Given the description of an element on the screen output the (x, y) to click on. 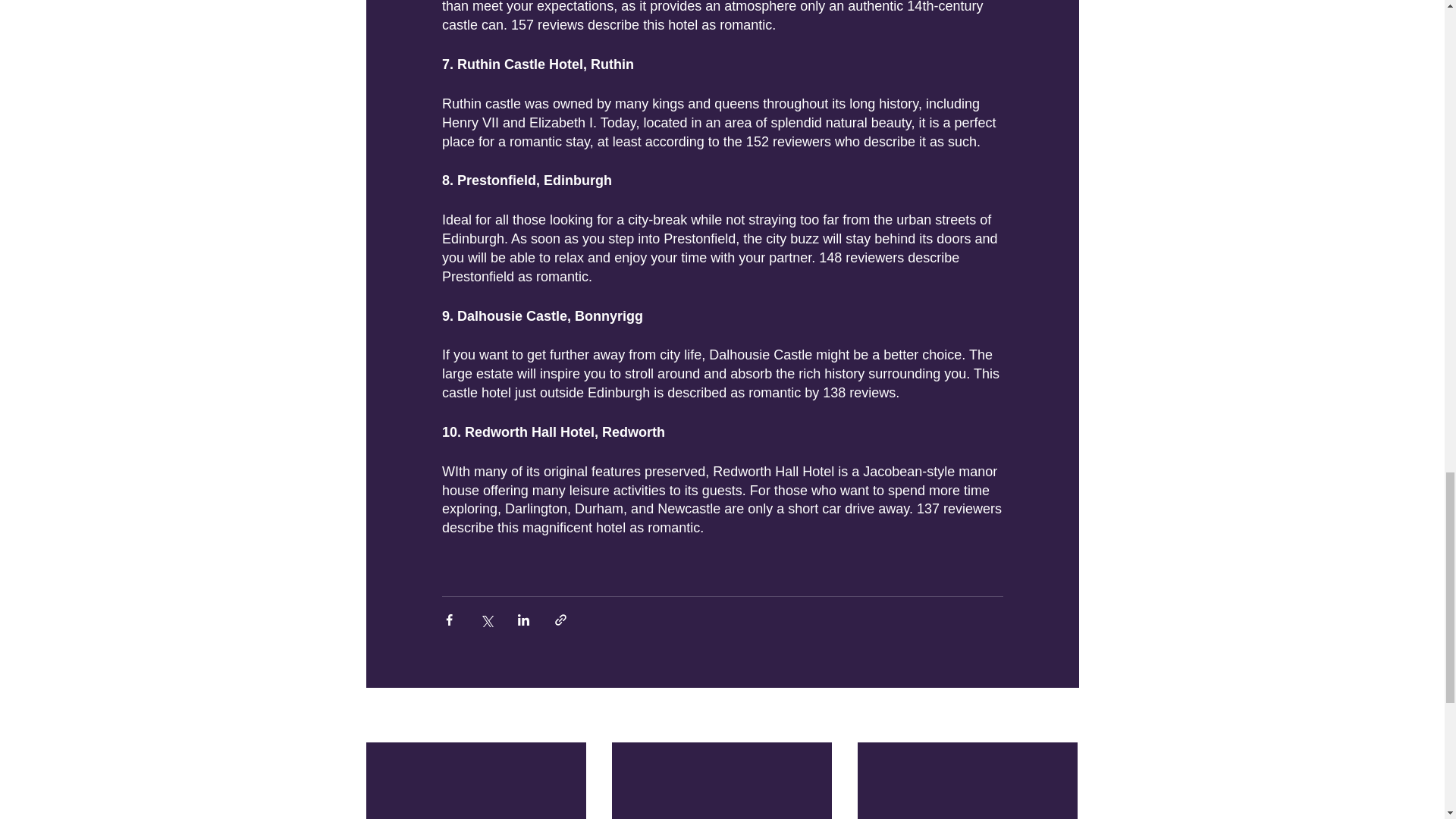
See All (1061, 716)
